Given the description of an element on the screen output the (x, y) to click on. 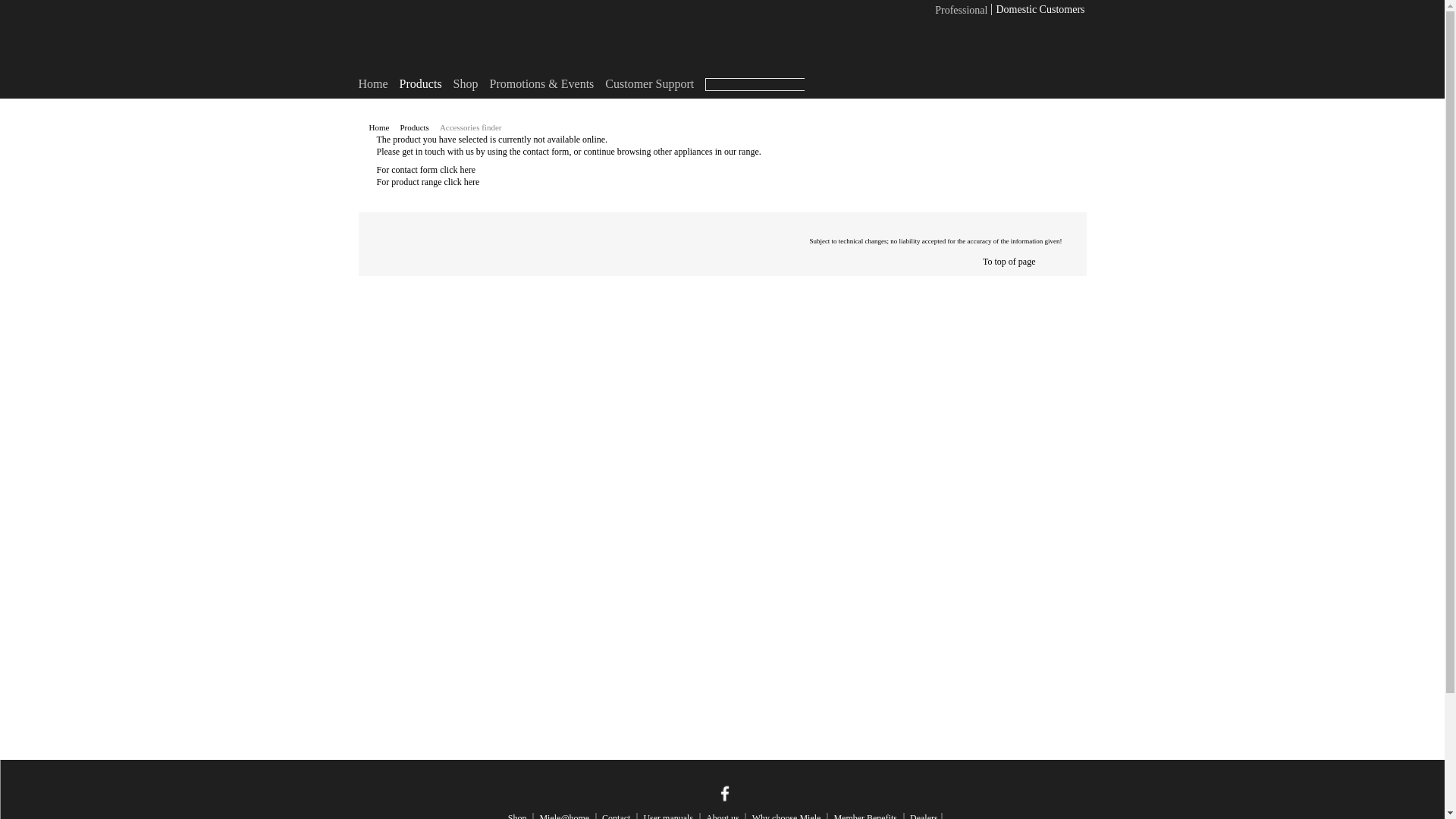
Customer Support (649, 83)
User manuals (668, 816)
To top of page (1008, 261)
Accessories finder (471, 127)
Home (372, 83)
About us (722, 816)
Wish list (1067, 60)
Products (420, 83)
Dealers (923, 816)
Products (414, 127)
